Given the description of an element on the screen output the (x, y) to click on. 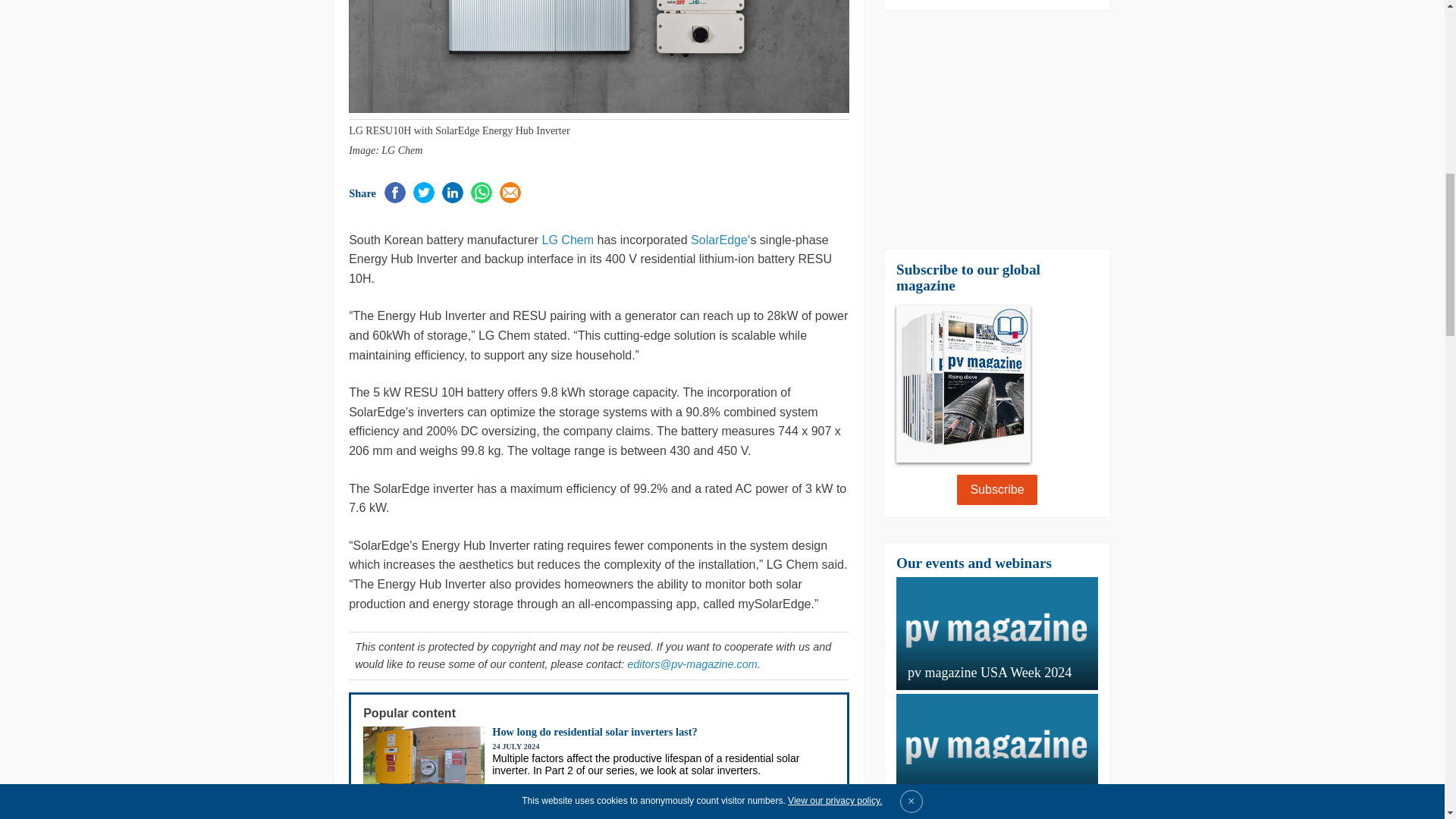
3rd party ad content (243, 472)
3rd party ad content (243, 115)
3rd party ad content (1199, 115)
3rd party ad content (1199, 472)
3rd party ad content (996, 129)
